Given the description of an element on the screen output the (x, y) to click on. 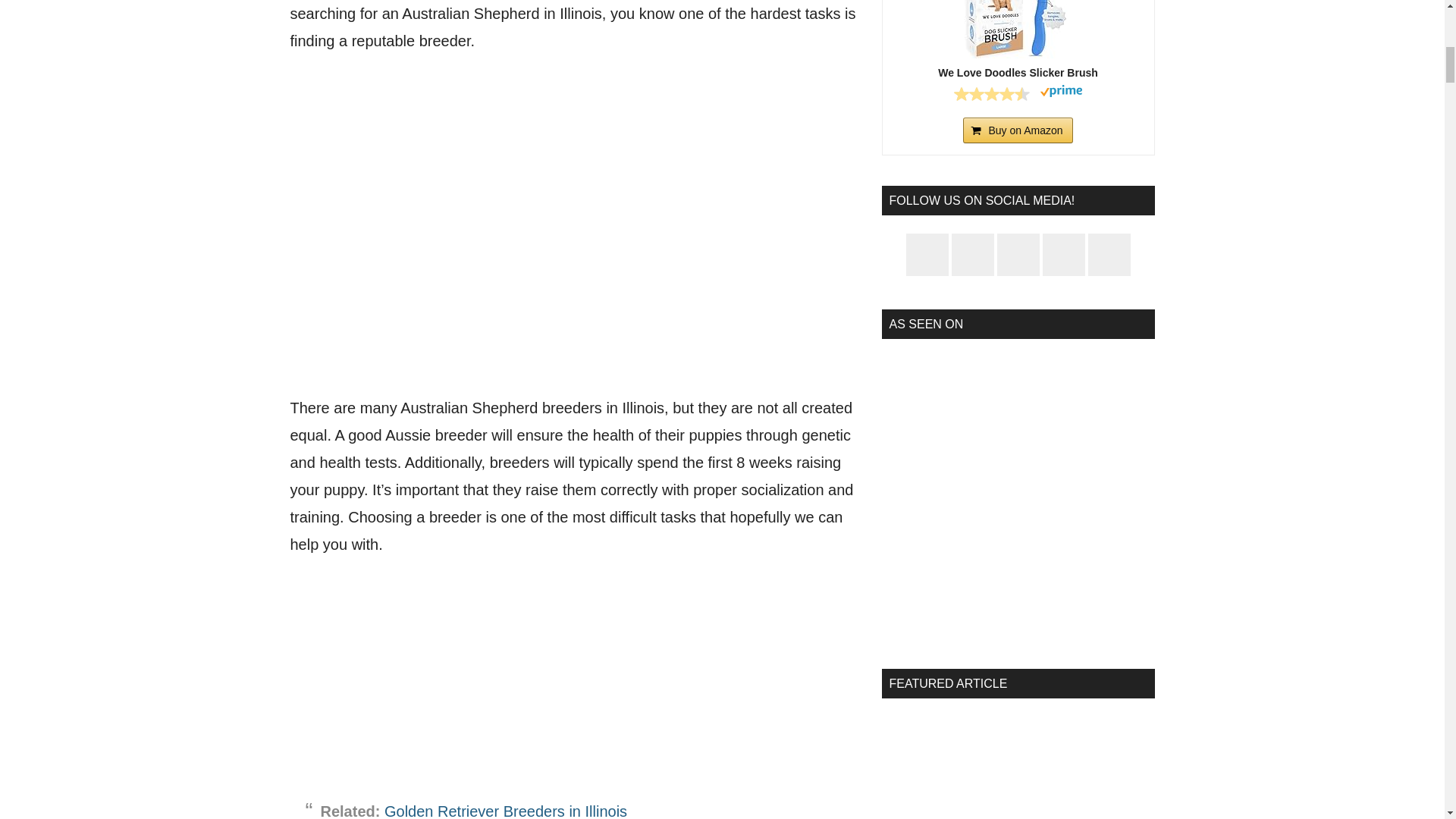
As Seen On (1017, 493)
Golden Retriever Breeders in Illinois (505, 811)
We Love Doodles Slicker Brush (1017, 72)
We Love Doodles Slicker Brush (1017, 29)
Buy on Amazon (1016, 130)
Reviews on Amazon (991, 93)
Amazon Prime (1061, 92)
